Given the description of an element on the screen output the (x, y) to click on. 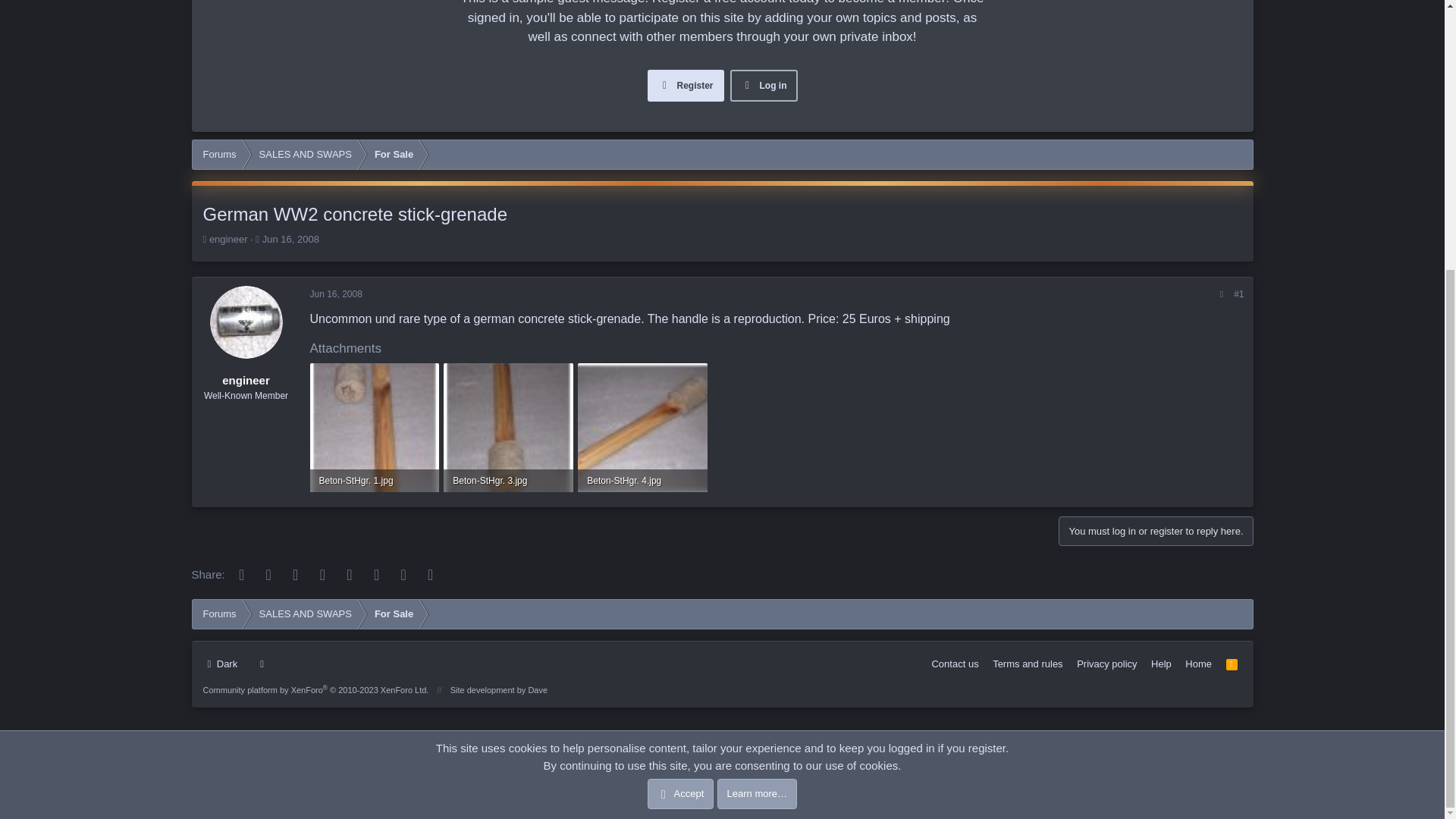
Beton-StHgr. 3.jpg (508, 480)
Jun 16, 2008 at 10:00 AM (334, 294)
Beton-StHgr. 1.jpg (373, 480)
Jun 16, 2008 at 10:00 AM (290, 238)
Beton-StHgr. 4.jpg (642, 480)
